Given the description of an element on the screen output the (x, y) to click on. 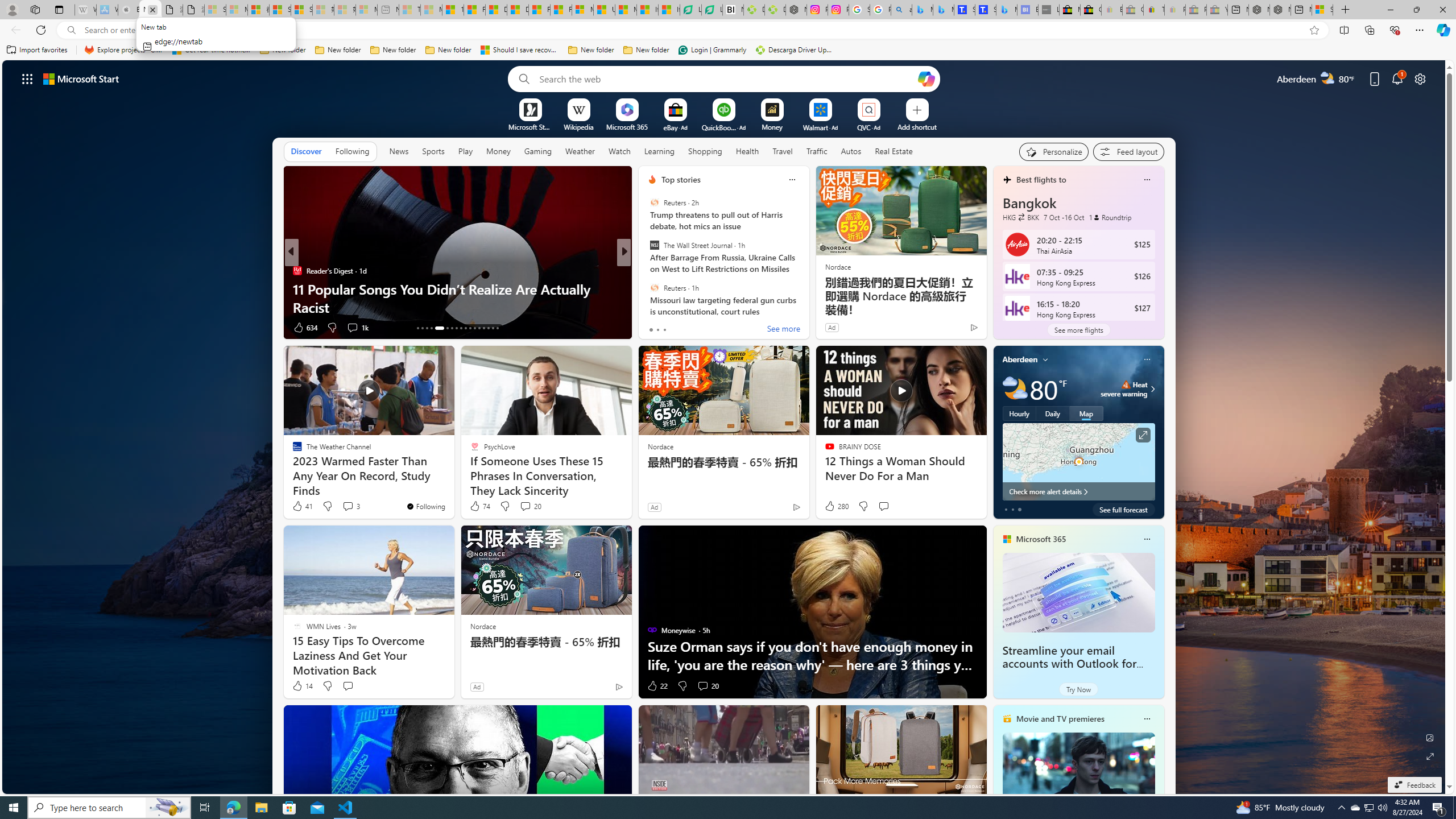
Map (1085, 413)
View comments 86 Comment (703, 327)
AutomationID: tab-14 (422, 328)
View comments 30 Comment (6, 327)
View comments 1k Comment (352, 327)
Feed settings (1128, 151)
flights-header-icon (1006, 179)
